Given the description of an element on the screen output the (x, y) to click on. 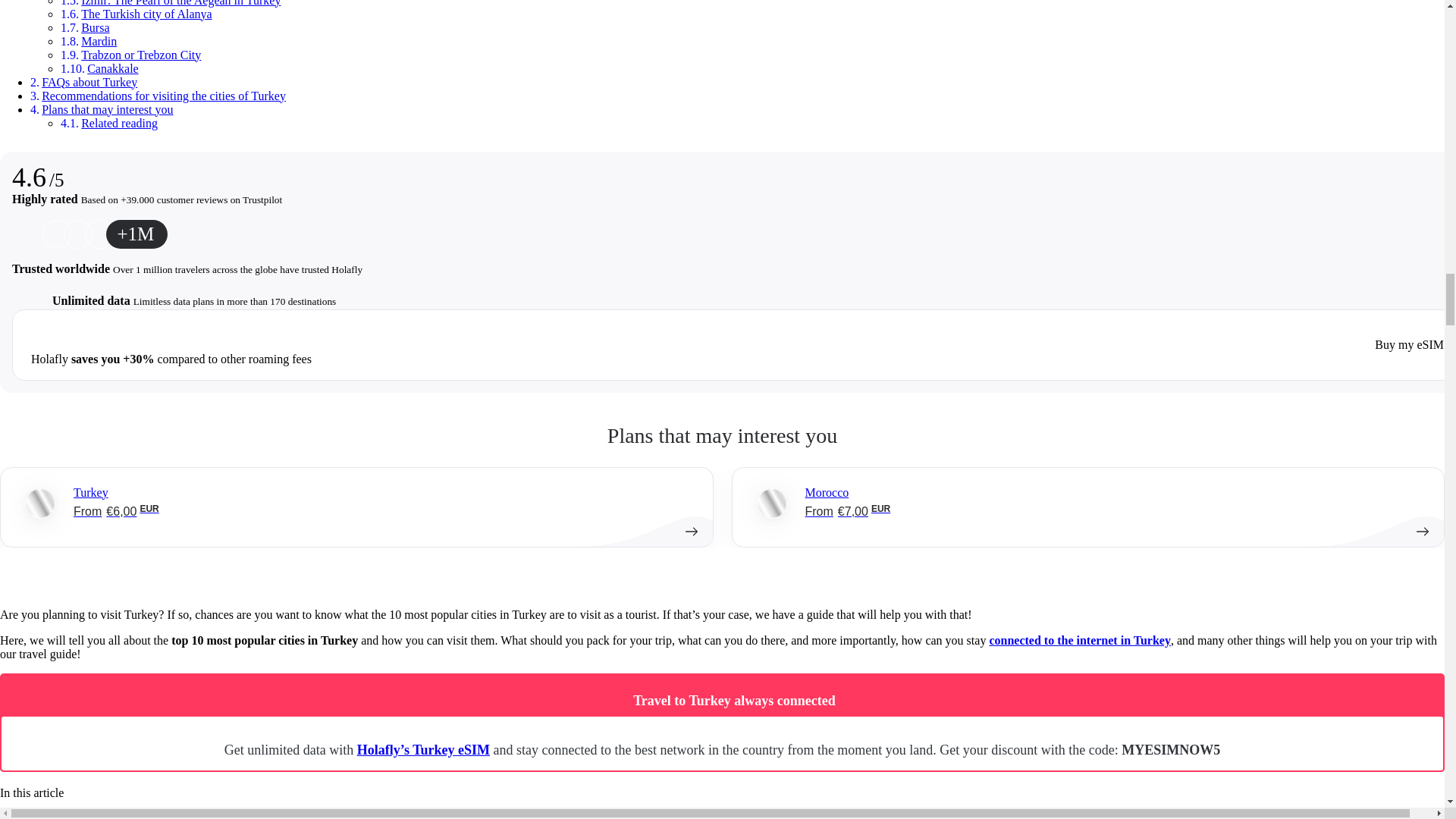
Trabzon or Trebzon City (140, 54)
Related reading (119, 123)
Izmir: The Pearl of the Aegean in Turkey (181, 3)
Mardin (98, 41)
FAQs about Turkey (89, 82)
The Turkish city of Alanya (146, 13)
Bursa (95, 27)
Canakkale (112, 68)
Recommendations for visiting the cities of Turkey (163, 95)
